Given the description of an element on the screen output the (x, y) to click on. 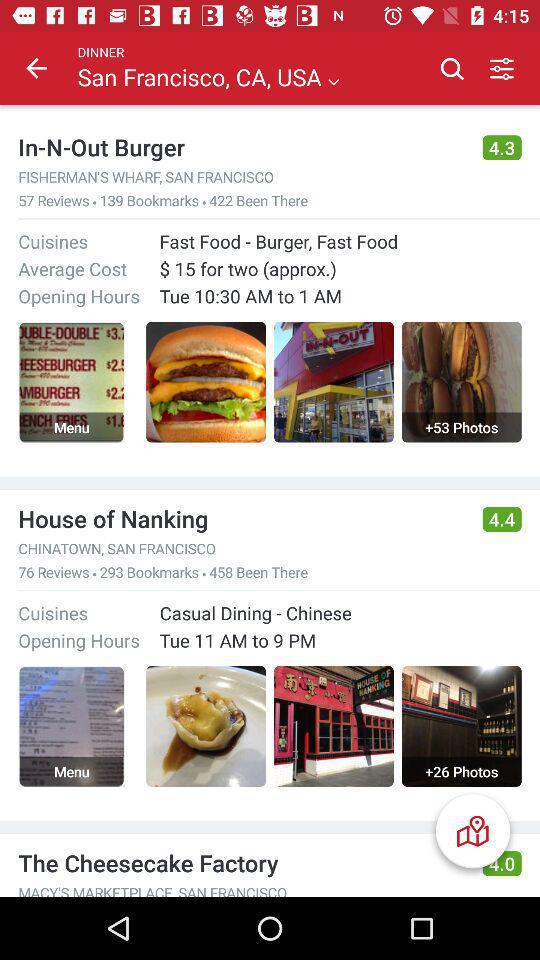
choose item above in n out icon (36, 68)
